Given the description of an element on the screen output the (x, y) to click on. 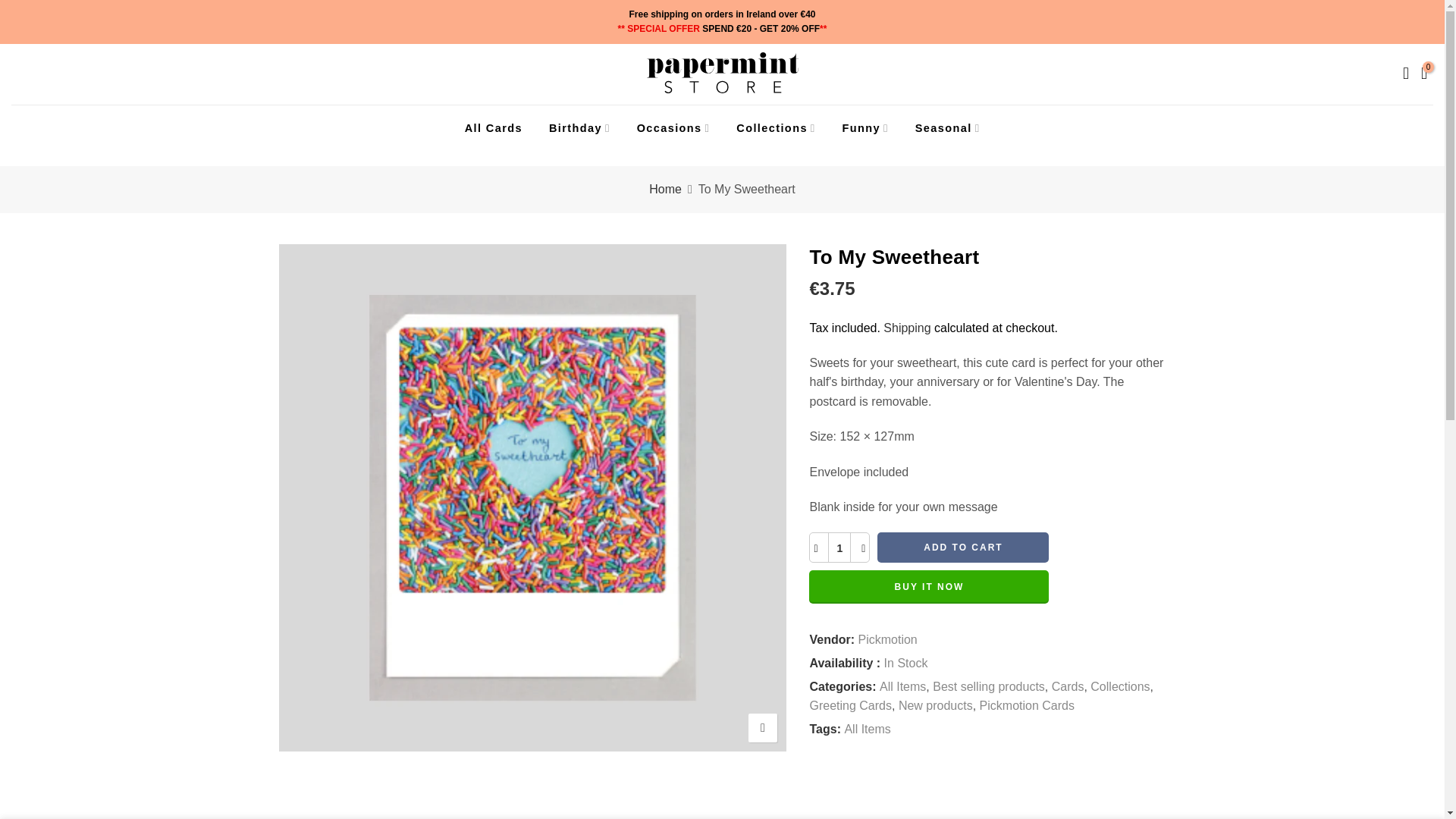
Birthday (579, 127)
All Cards (493, 127)
Pickmotion (888, 639)
